Given the description of an element on the screen output the (x, y) to click on. 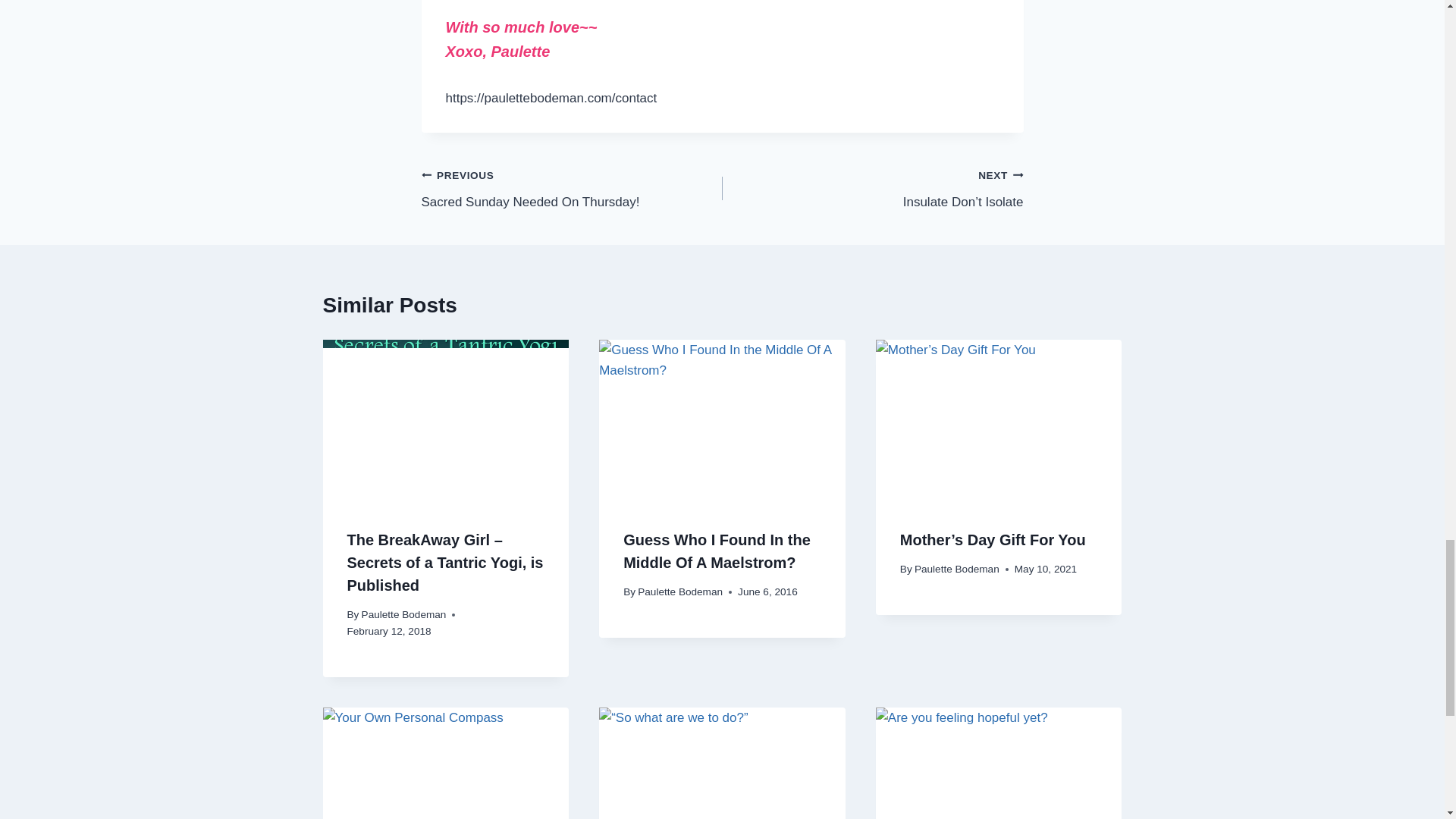
Paulette Bodeman (679, 591)
Paulette Bodeman (403, 614)
Guess Who I Found In the Middle Of A Maelstrom? (716, 550)
